Given the description of an element on the screen output the (x, y) to click on. 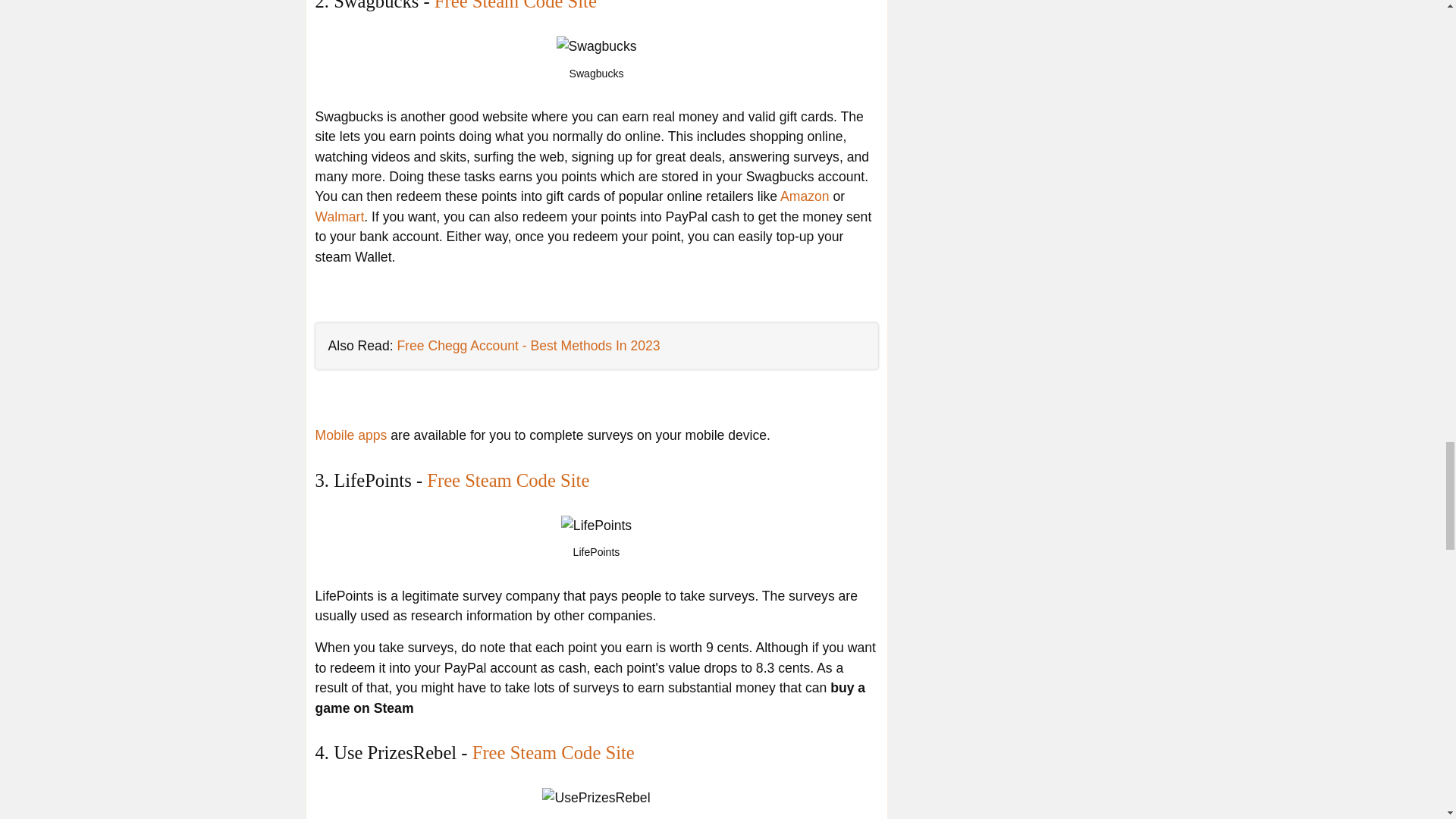
Free Steam Code Site (514, 5)
Mobile apps (351, 435)
Free Steam Code Site (552, 752)
Free Steam Code Site (507, 480)
Walmart (340, 216)
Free Chegg Account - Best Methods In 2023 (527, 345)
Amazon (804, 196)
